Given the description of an element on the screen output the (x, y) to click on. 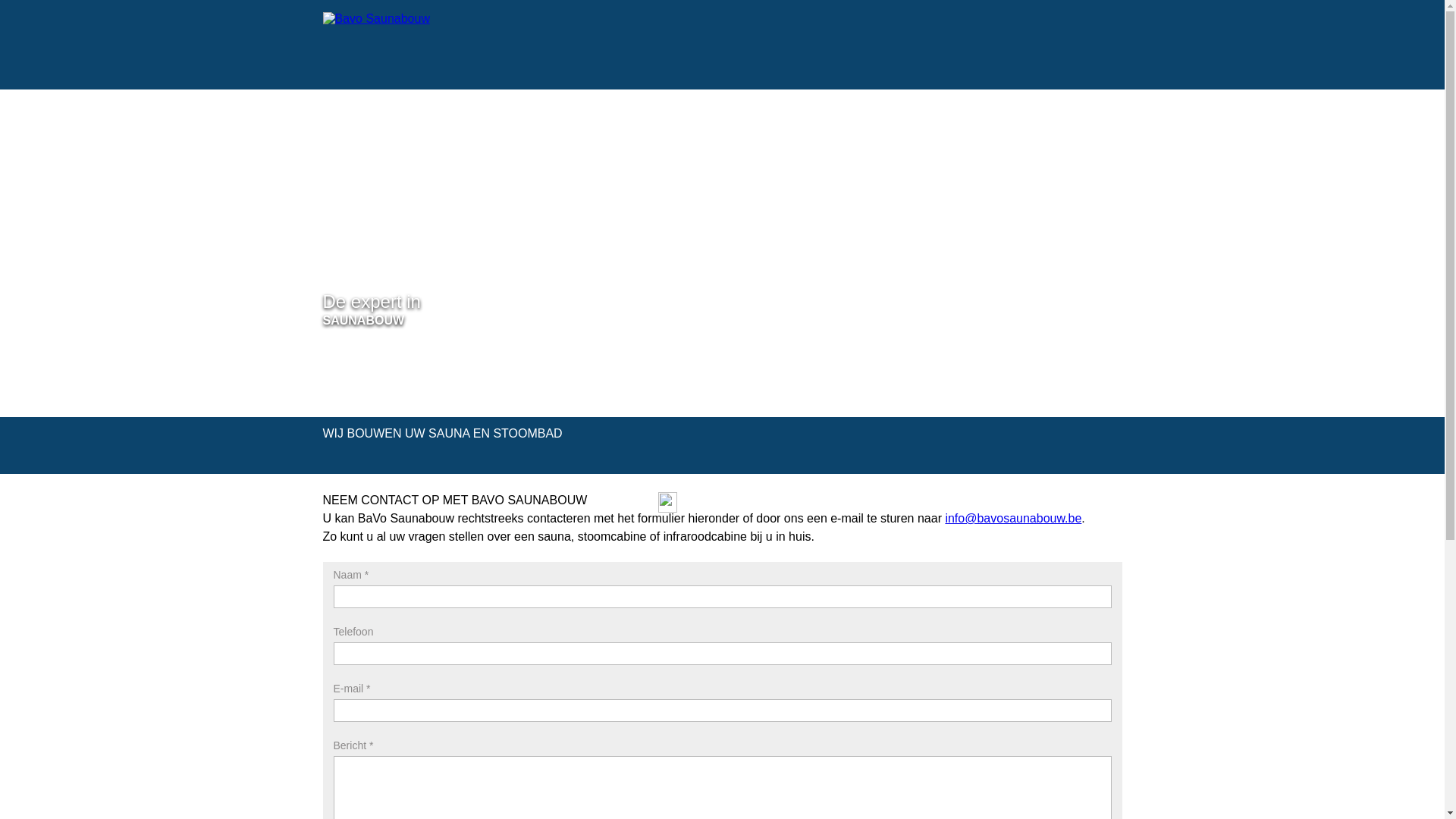
info@bavosaunabouw.be Element type: text (1012, 517)
